Given the description of an element on the screen output the (x, y) to click on. 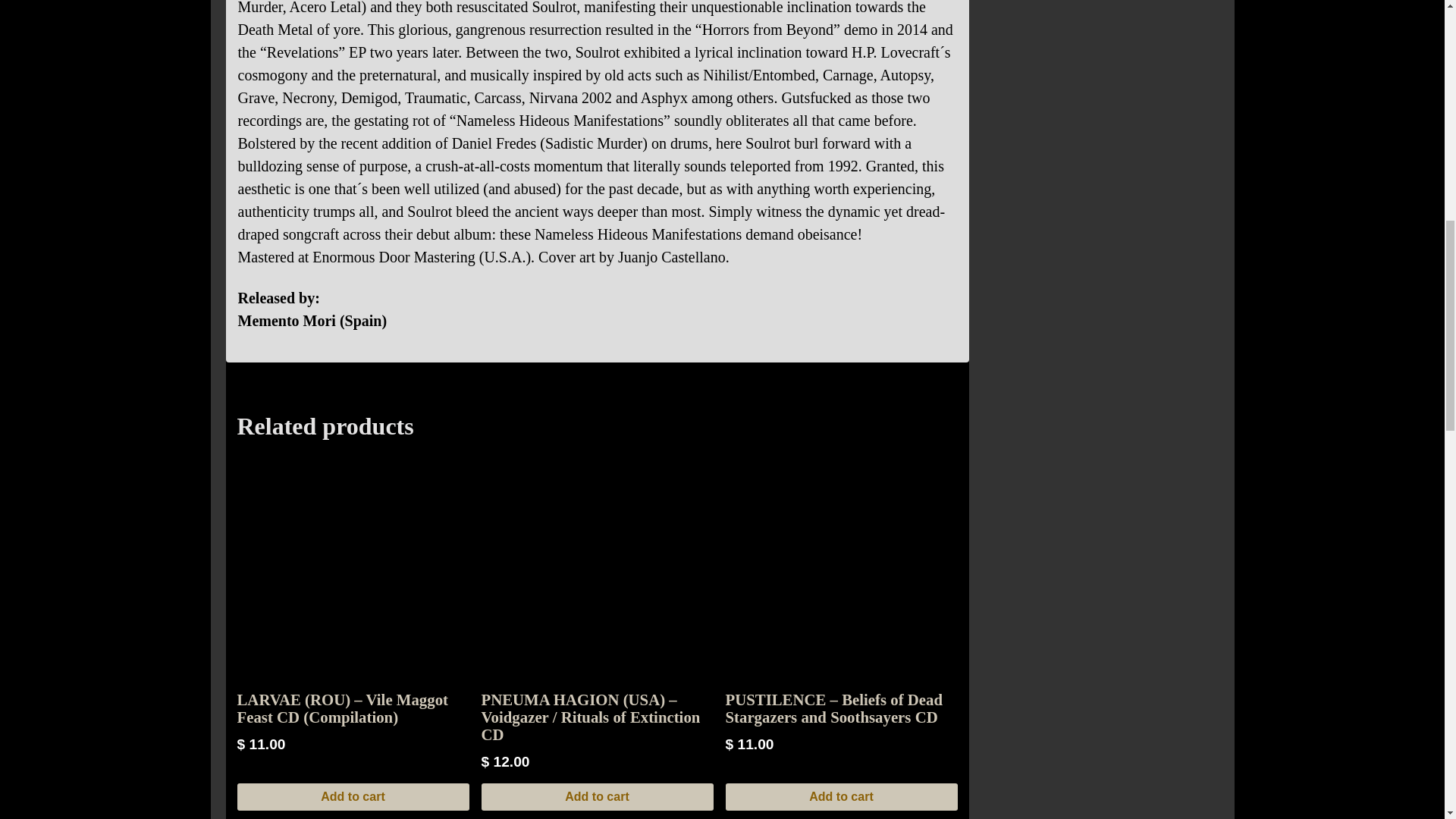
Add to cart (596, 796)
Add to cart (840, 796)
Add to cart (351, 796)
